Given the description of an element on the screen output the (x, y) to click on. 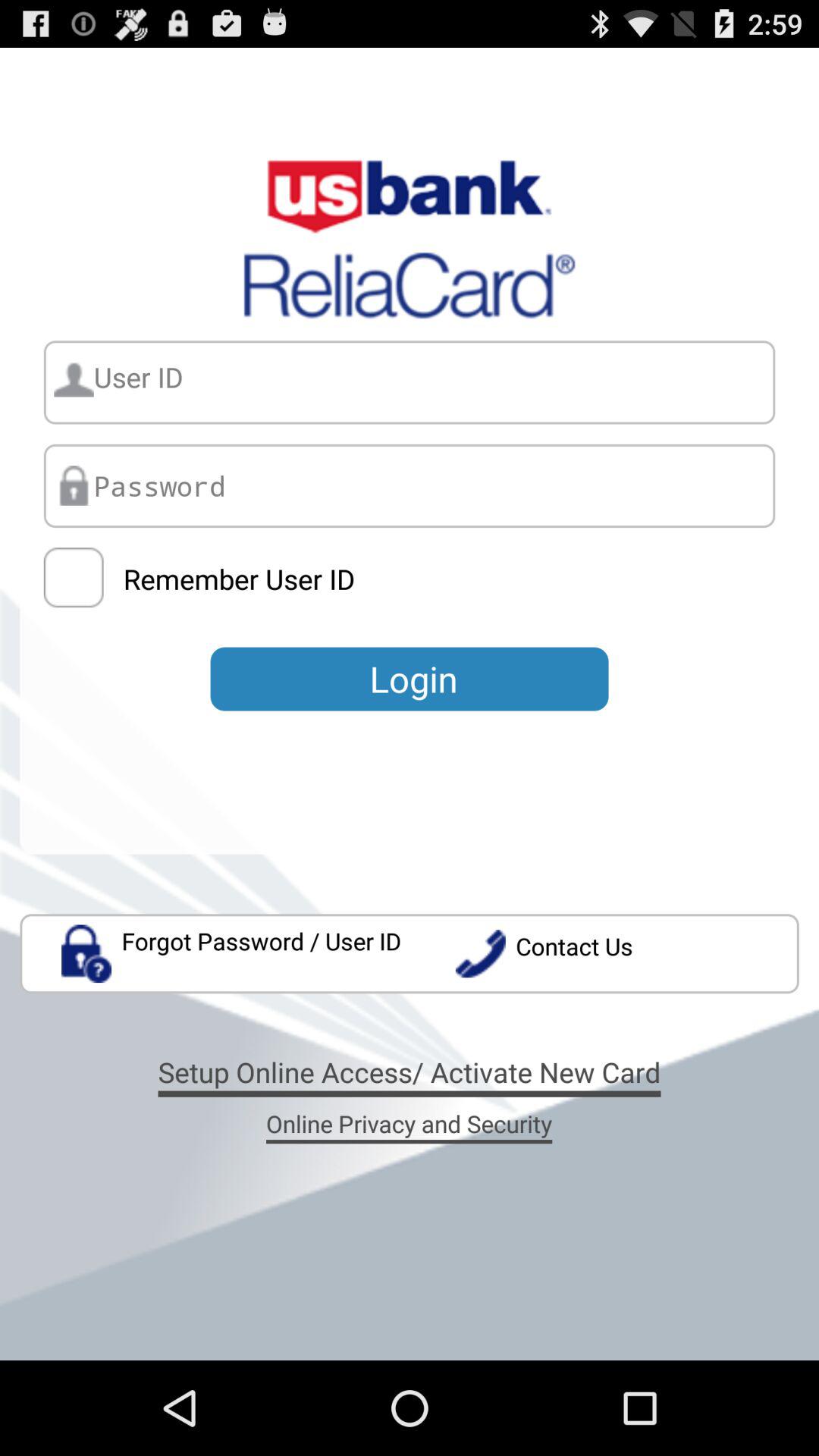
turn off the item next to the remember user id app (73, 577)
